Given the description of an element on the screen output the (x, y) to click on. 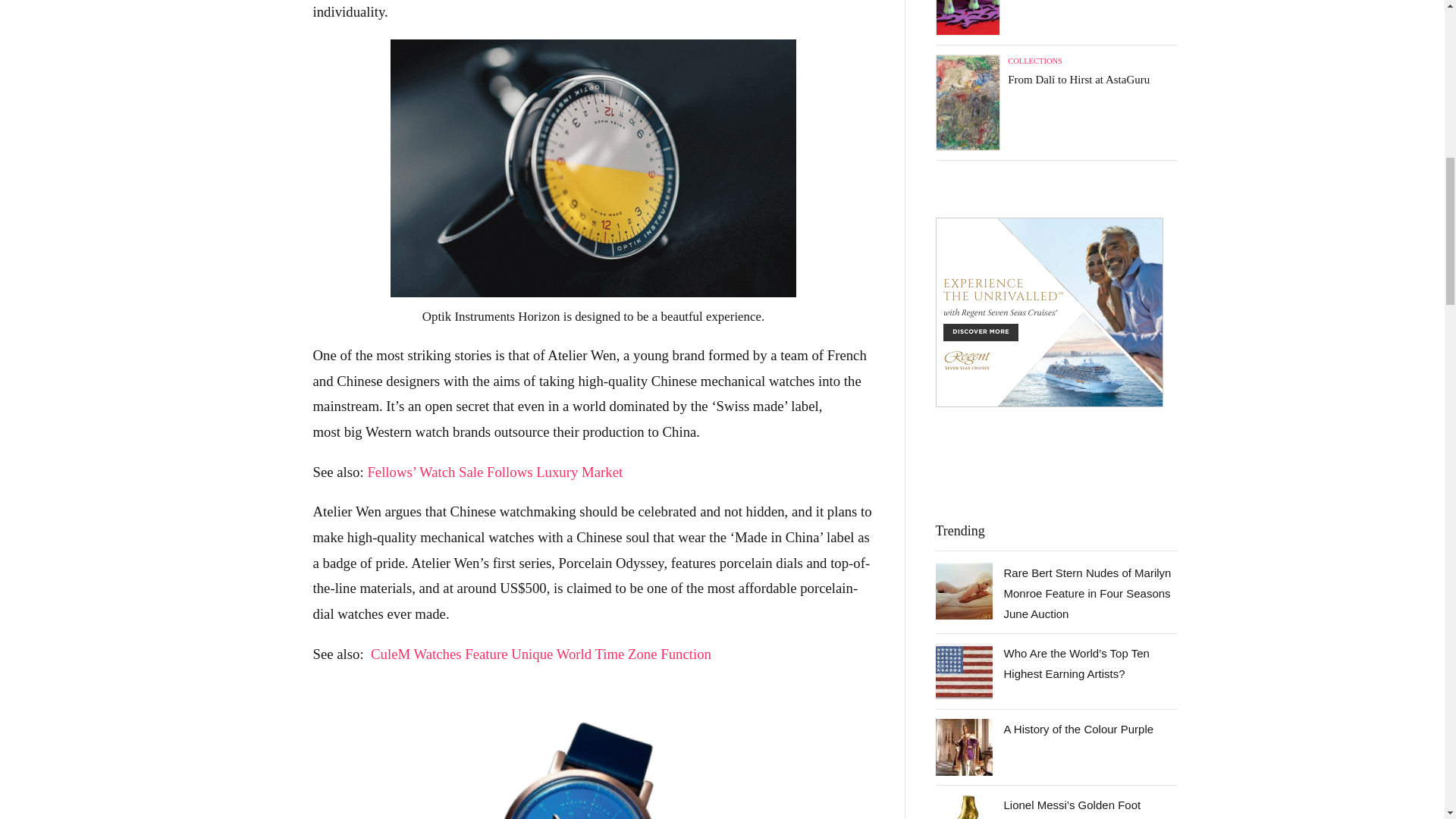
CuleM Watches Feature Unique World Time Zone Function (541, 653)
